Given the description of an element on the screen output the (x, y) to click on. 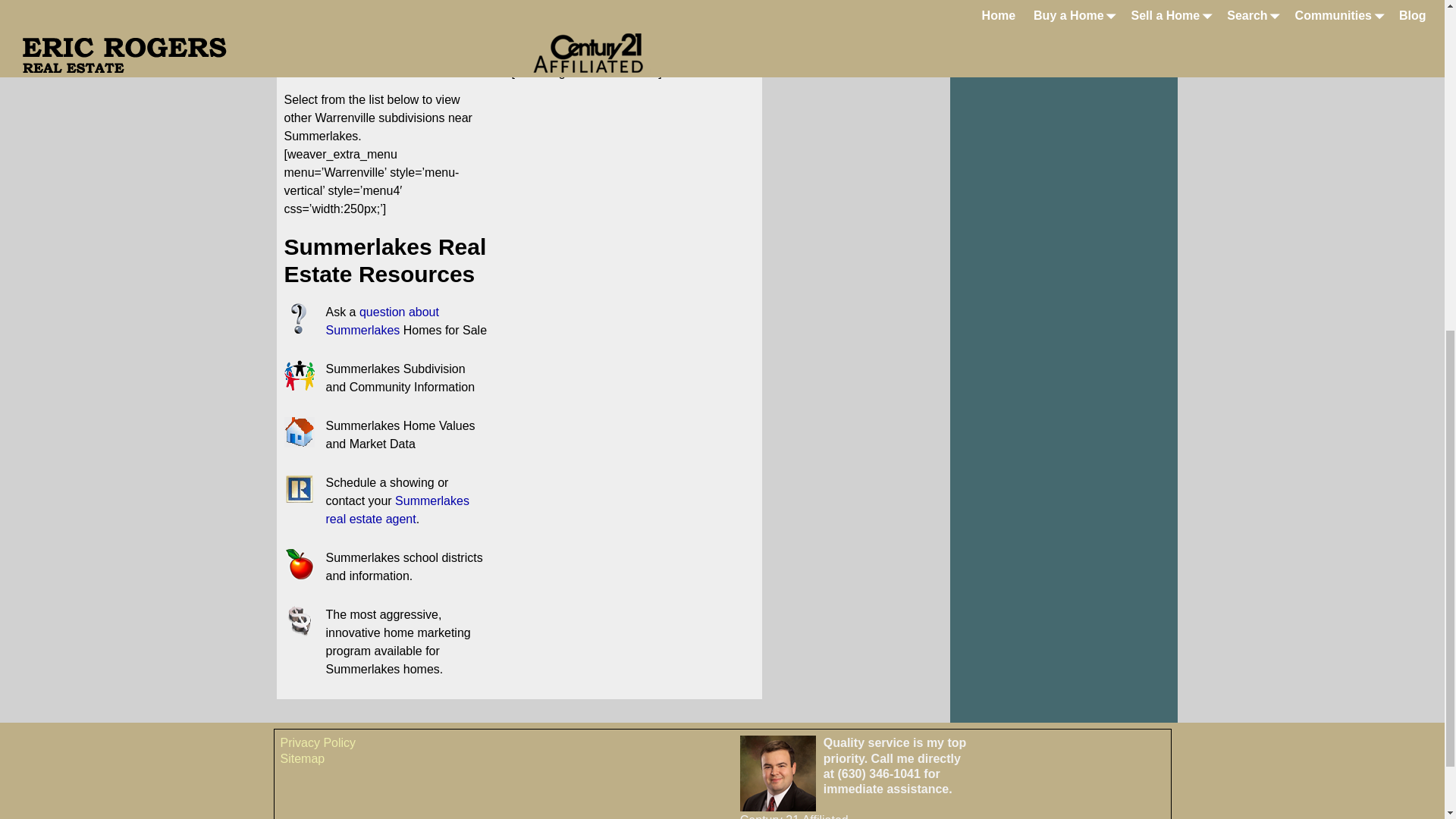
Sitemap (302, 758)
Summerlakes real estate agent (397, 509)
question about Summerlakes (382, 320)
Privacy Policy (318, 742)
